Given the description of an element on the screen output the (x, y) to click on. 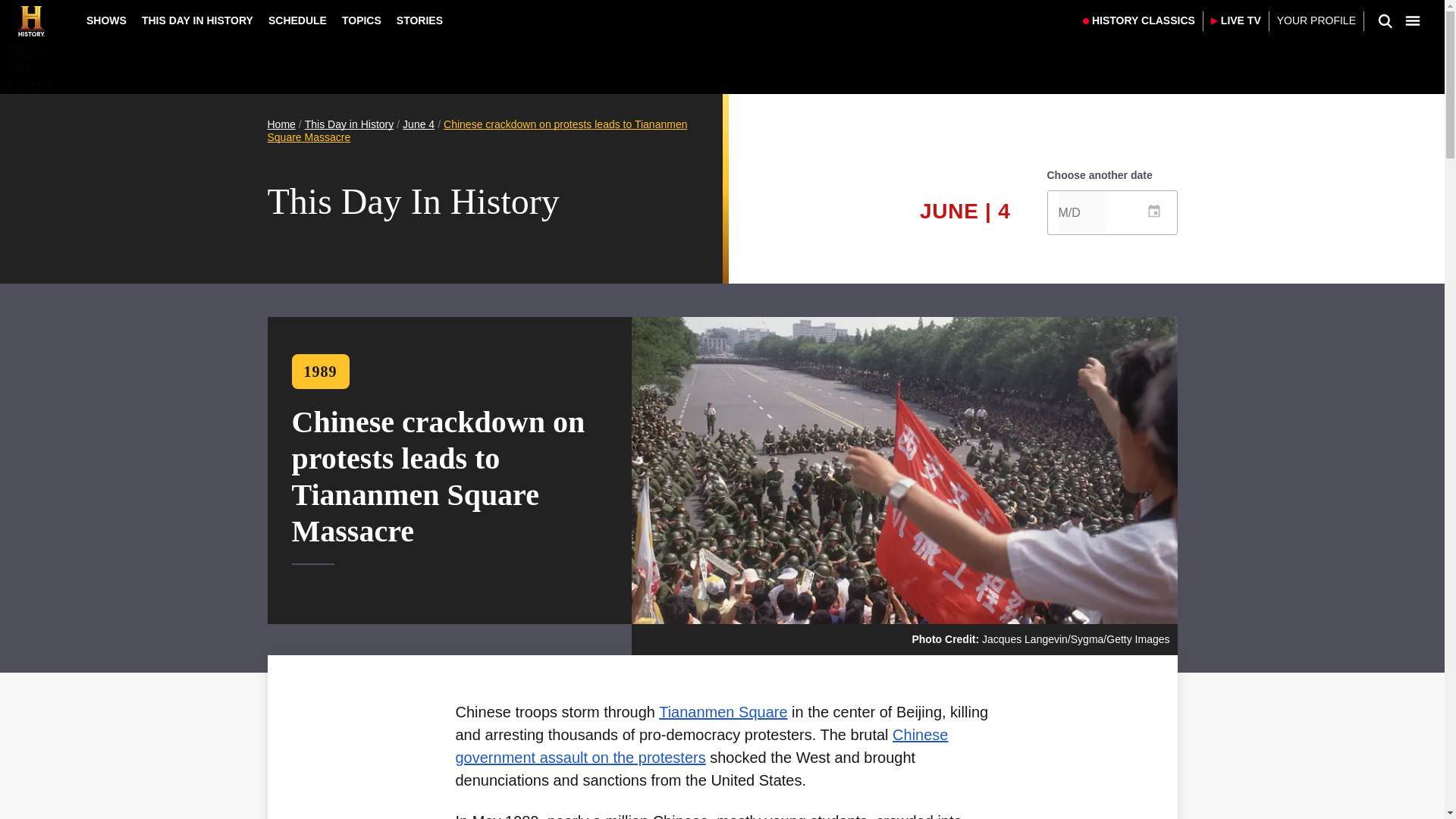
STORIES (418, 20)
This Day in History (348, 123)
THIS DAY IN HISTORY (196, 20)
June 4 (418, 123)
TOPICS (361, 20)
LIVE TV (1236, 20)
Home (280, 123)
YOUR PROFILE (1315, 21)
SHOWS (105, 20)
HISTORY CLASSICS (1138, 20)
SCHEDULE (297, 20)
